Given the description of an element on the screen output the (x, y) to click on. 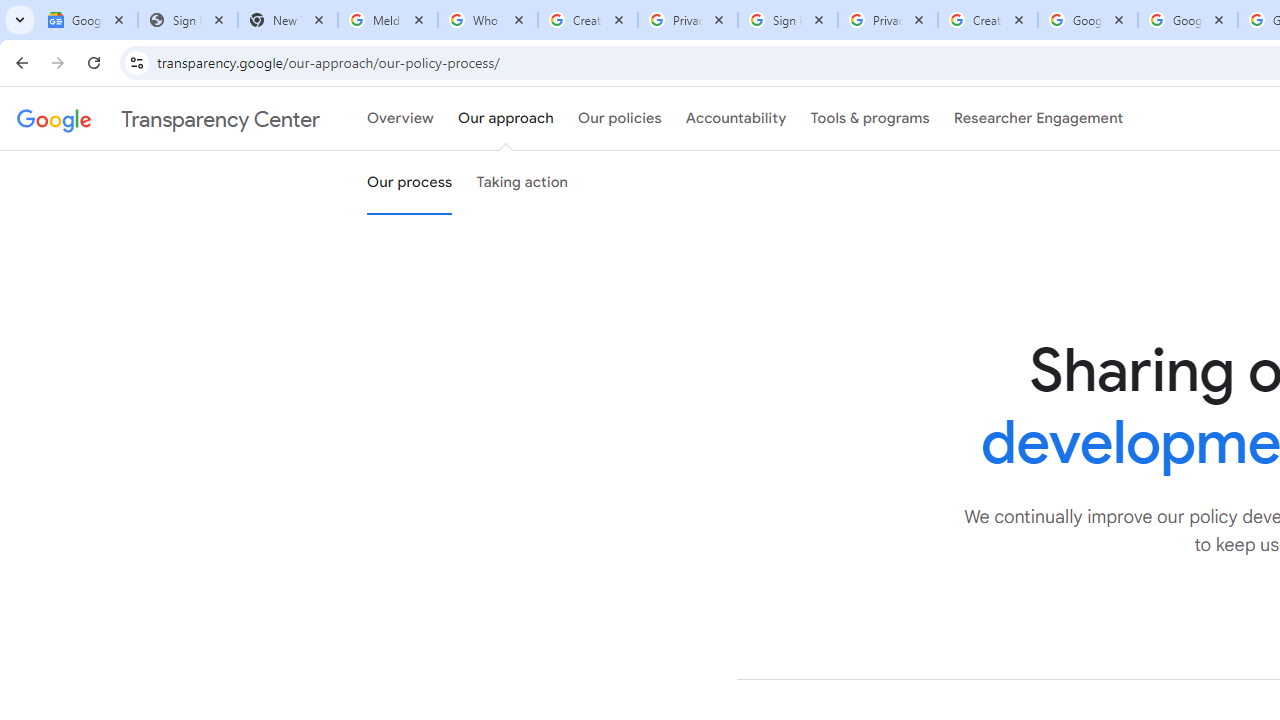
Create your Google Account (587, 20)
Our process (409, 183)
Our policies (619, 119)
Accountability (735, 119)
Create your Google Account (988, 20)
Sign In - USA TODAY (188, 20)
Who is my administrator? - Google Account Help (487, 20)
Tools & programs (869, 119)
Our approach (506, 119)
New Tab (287, 20)
